Given the description of an element on the screen output the (x, y) to click on. 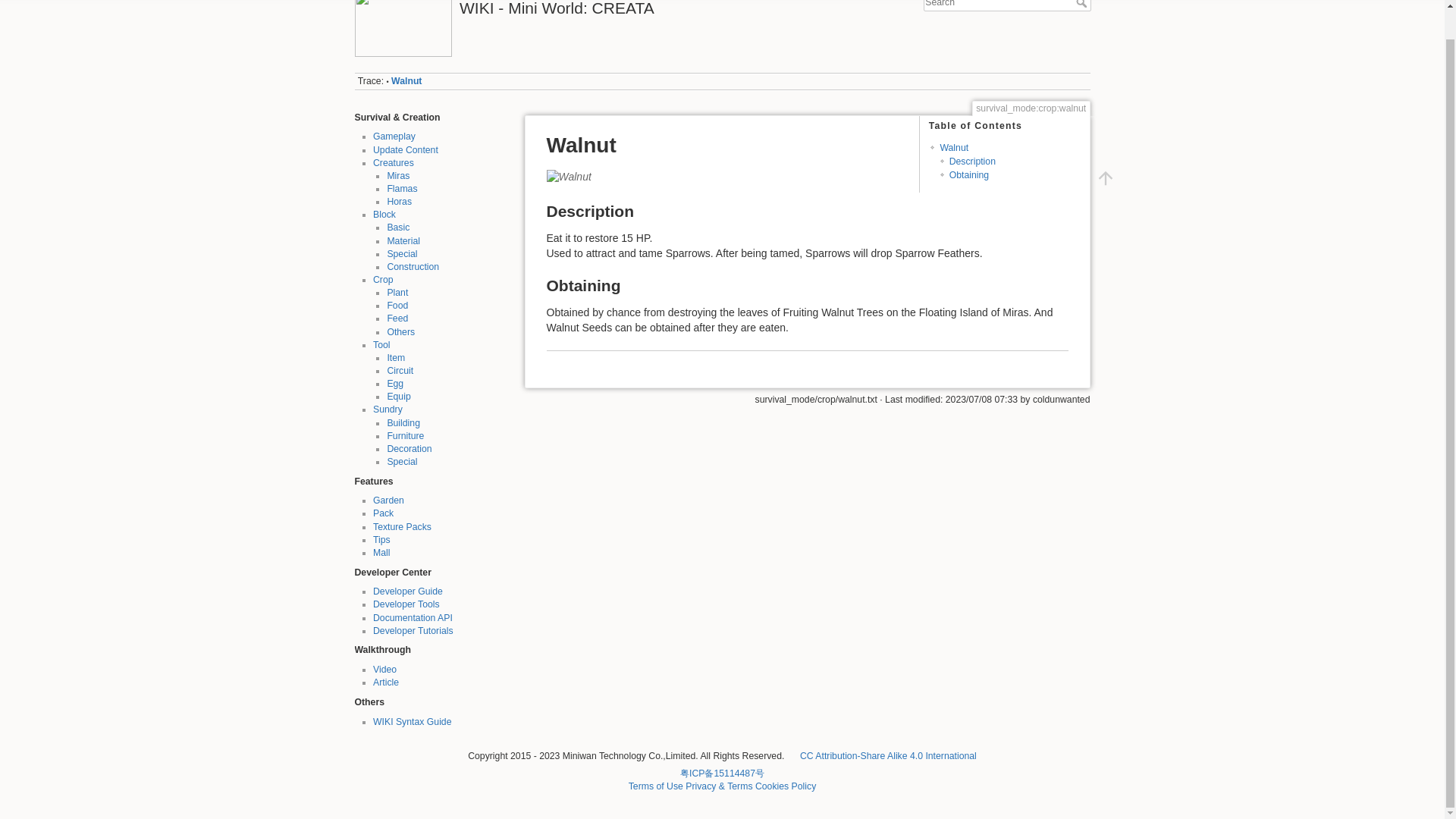
Documentation API (412, 617)
Pack (382, 512)
Sundry (387, 409)
Creatures (392, 163)
Building (403, 421)
Miras (398, 175)
Garden (388, 500)
Search (1082, 3)
Item (395, 357)
Egg (395, 383)
